Given the description of an element on the screen output the (x, y) to click on. 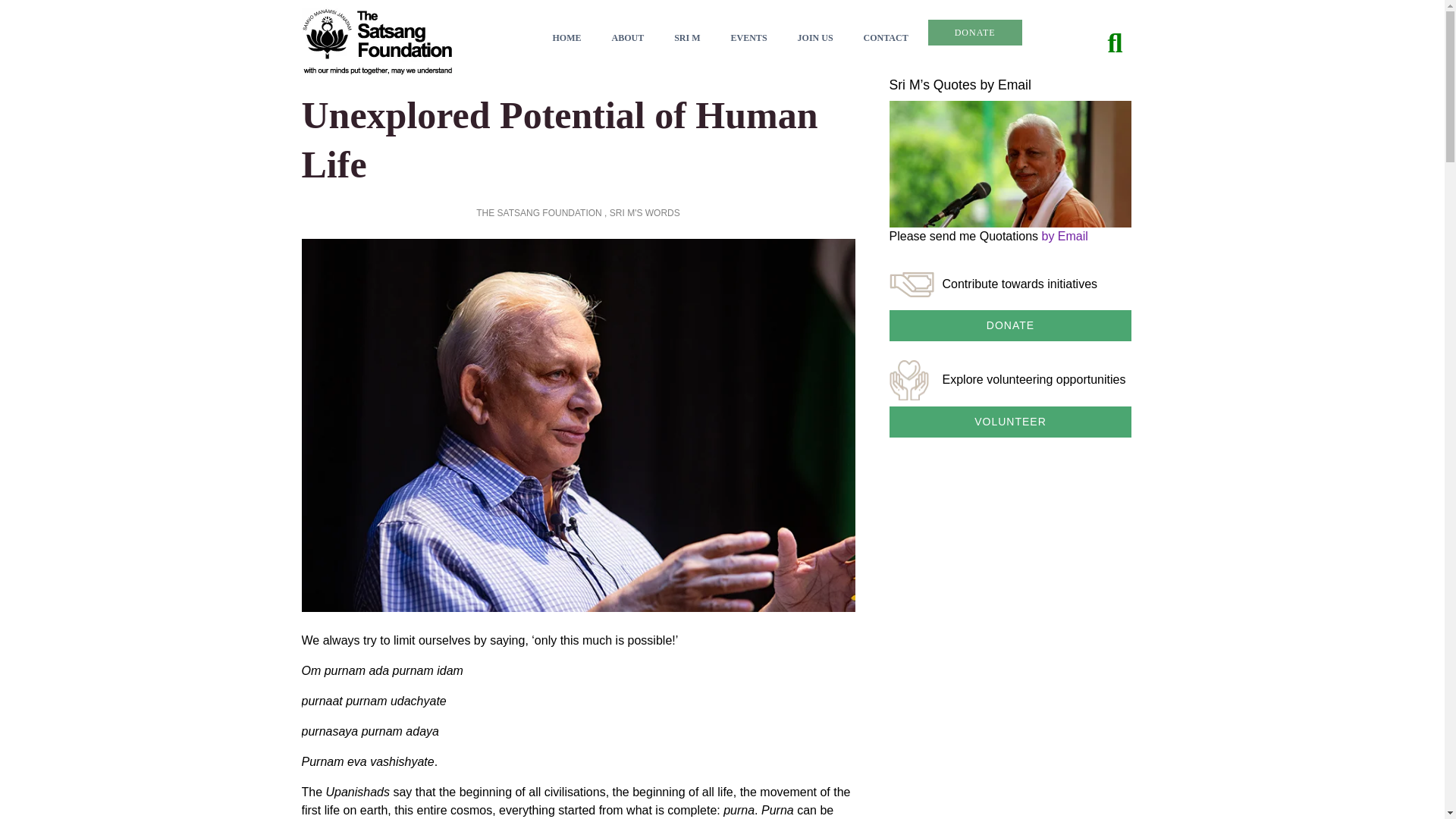
Posts by The Satsang Foundation (539, 213)
SRI M'S WORDS (644, 213)
ABOUT (627, 38)
Unexplored Potential of Human Life (559, 139)
DONATE (975, 32)
CONTACT (885, 38)
The official website of The Satsang Foundation (376, 40)
THE SATSANG FOUNDATION (539, 213)
EVENTS (748, 38)
JOIN US (814, 38)
SRI M (687, 38)
HOME (565, 38)
Unexplored Potential of Human Life (559, 139)
